Given the description of an element on the screen output the (x, y) to click on. 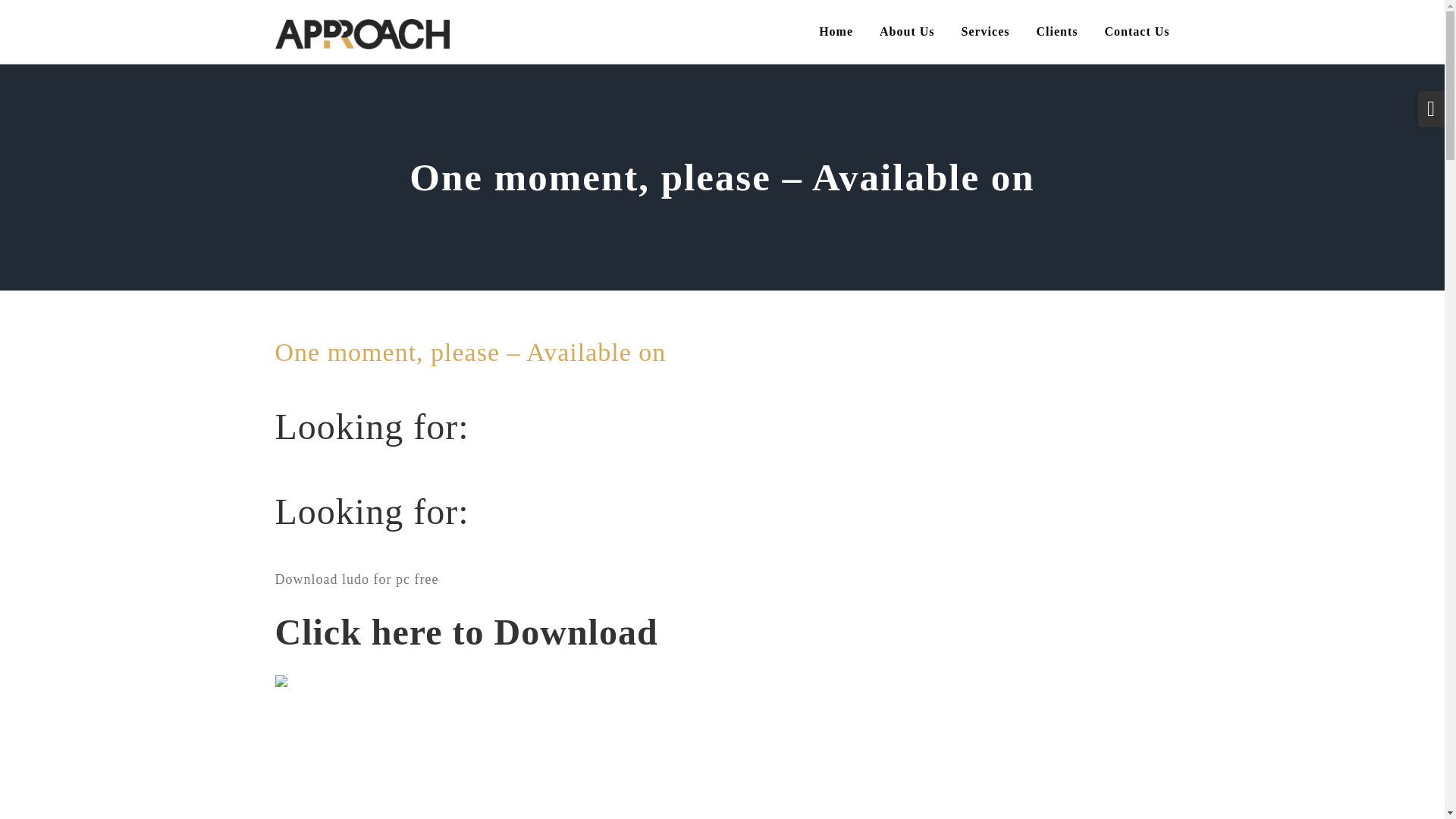
Contact Us (1136, 31)
Click here to Download (466, 639)
